Given the description of an element on the screen output the (x, y) to click on. 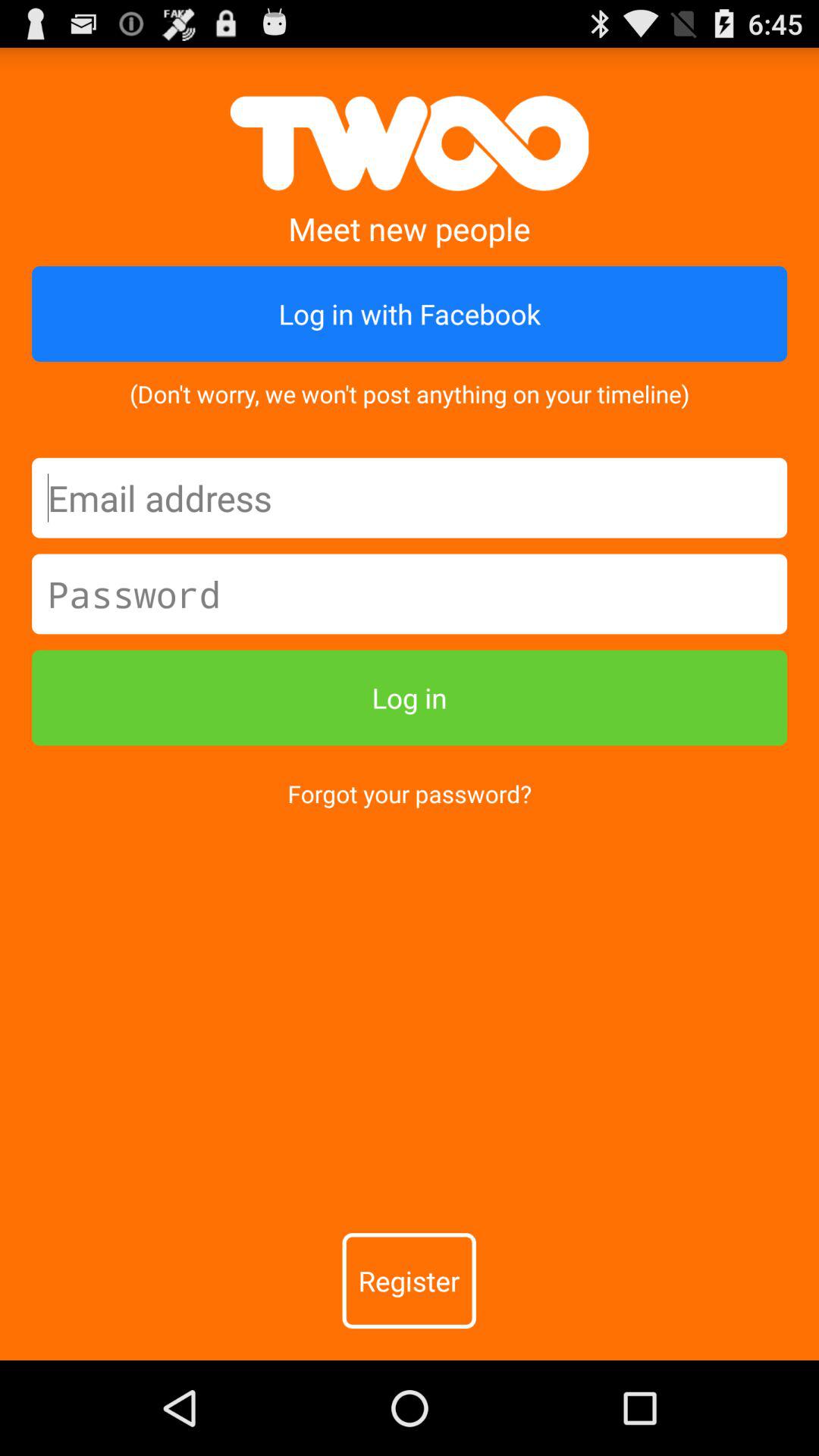
select the forgot your password? item (409, 793)
